Given the description of an element on the screen output the (x, y) to click on. 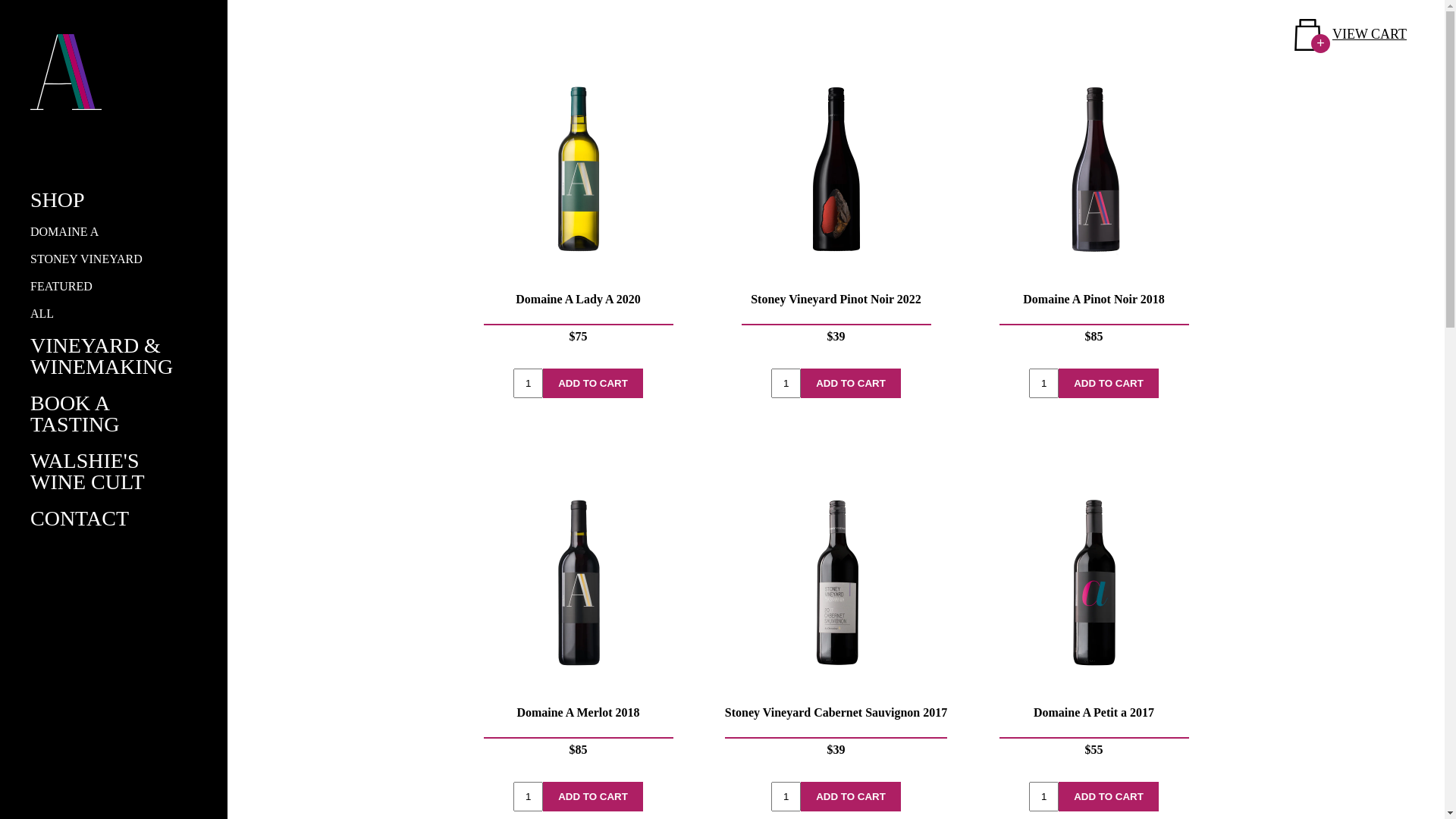
FEATURED Element type: text (61, 285)
DOMAINE A Element type: text (64, 231)
+
VIEW CART Element type: text (1350, 34)
CONTACT Element type: text (79, 518)
VINEYARD & WINEMAKING Element type: text (101, 355)
ADD TO CART Element type: text (1108, 796)
Domaine A Lady A 2020
$75 Element type: text (577, 210)
Domaine A Petit a 2017
$55 Element type: text (1093, 623)
Domaine A Pinot Noir 2018
$85 Element type: text (1093, 210)
Domaine A Merlot 2018
$85 Element type: text (577, 623)
ADD TO CART Element type: text (592, 796)
Stoney Vineyard Cabernet Sauvignon 2017
$39 Element type: text (835, 623)
ALL Element type: text (41, 313)
ADD TO CART Element type: text (1108, 383)
ADD TO CART Element type: text (850, 383)
ADD TO CART Element type: text (592, 383)
WALSHIE'S WINE CULT Element type: text (87, 470)
BOOK A TASTING Element type: text (74, 413)
ADD TO CART Element type: text (850, 796)
Stoney Vineyard Pinot Noir 2022
$39 Element type: text (835, 210)
SHOP Element type: text (57, 199)
STONEY VINEYARD Element type: text (86, 258)
